Given the description of an element on the screen output the (x, y) to click on. 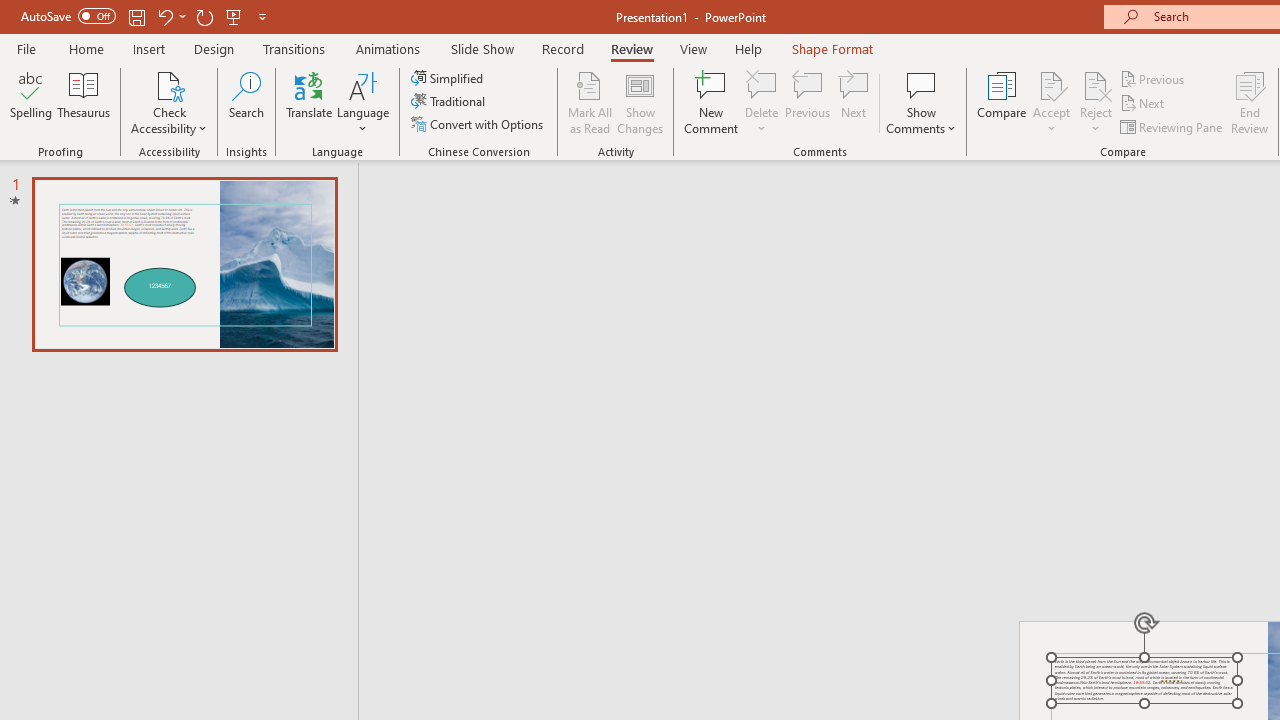
Simplified (449, 78)
Accept (1051, 102)
Thesaurus... (83, 102)
